Given the description of an element on the screen output the (x, y) to click on. 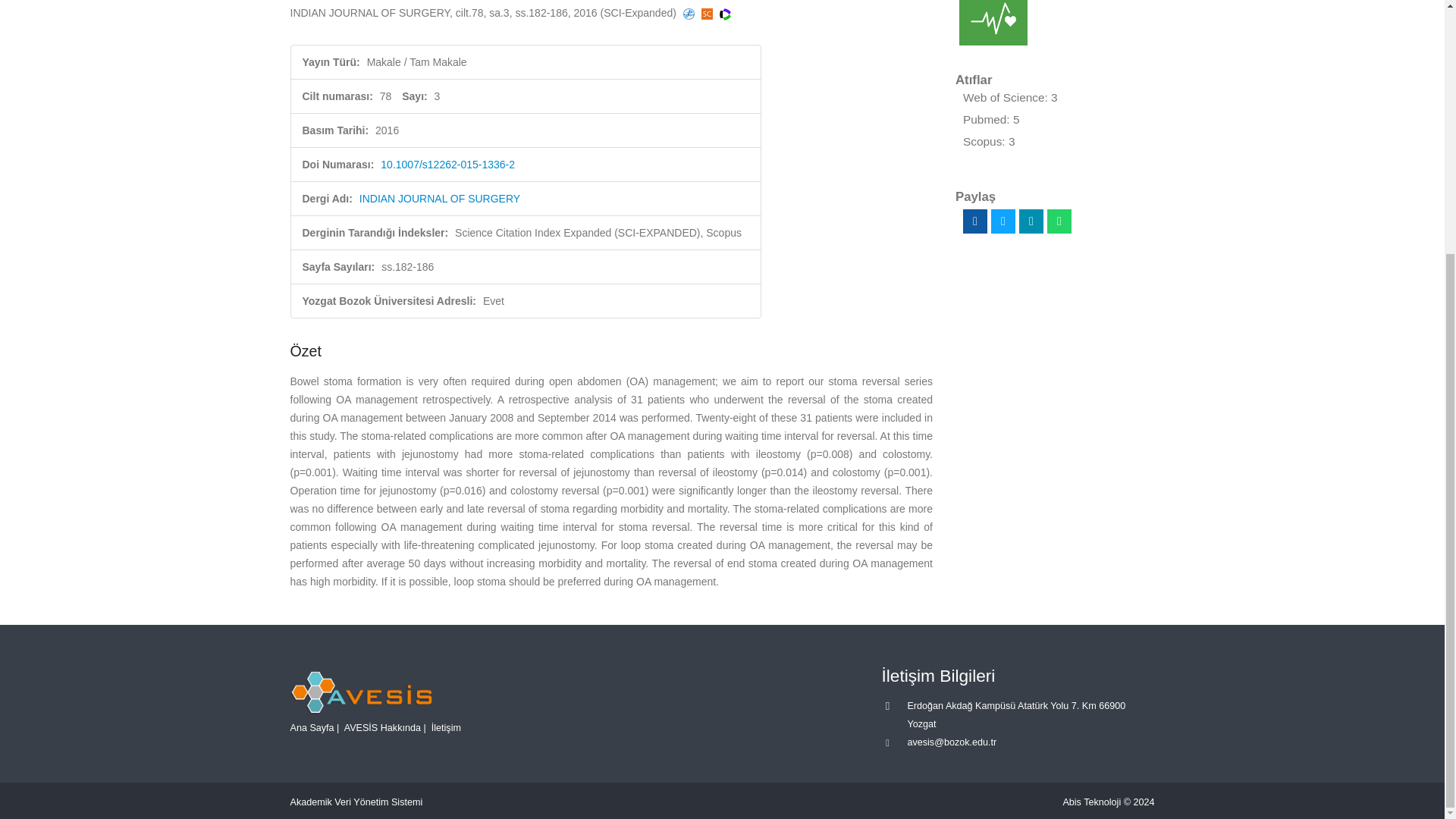
Abis Teknoloji (1091, 801)
Ana Sayfa (311, 727)
INDIAN JOURNAL OF SURGERY (439, 198)
